Given the description of an element on the screen output the (x, y) to click on. 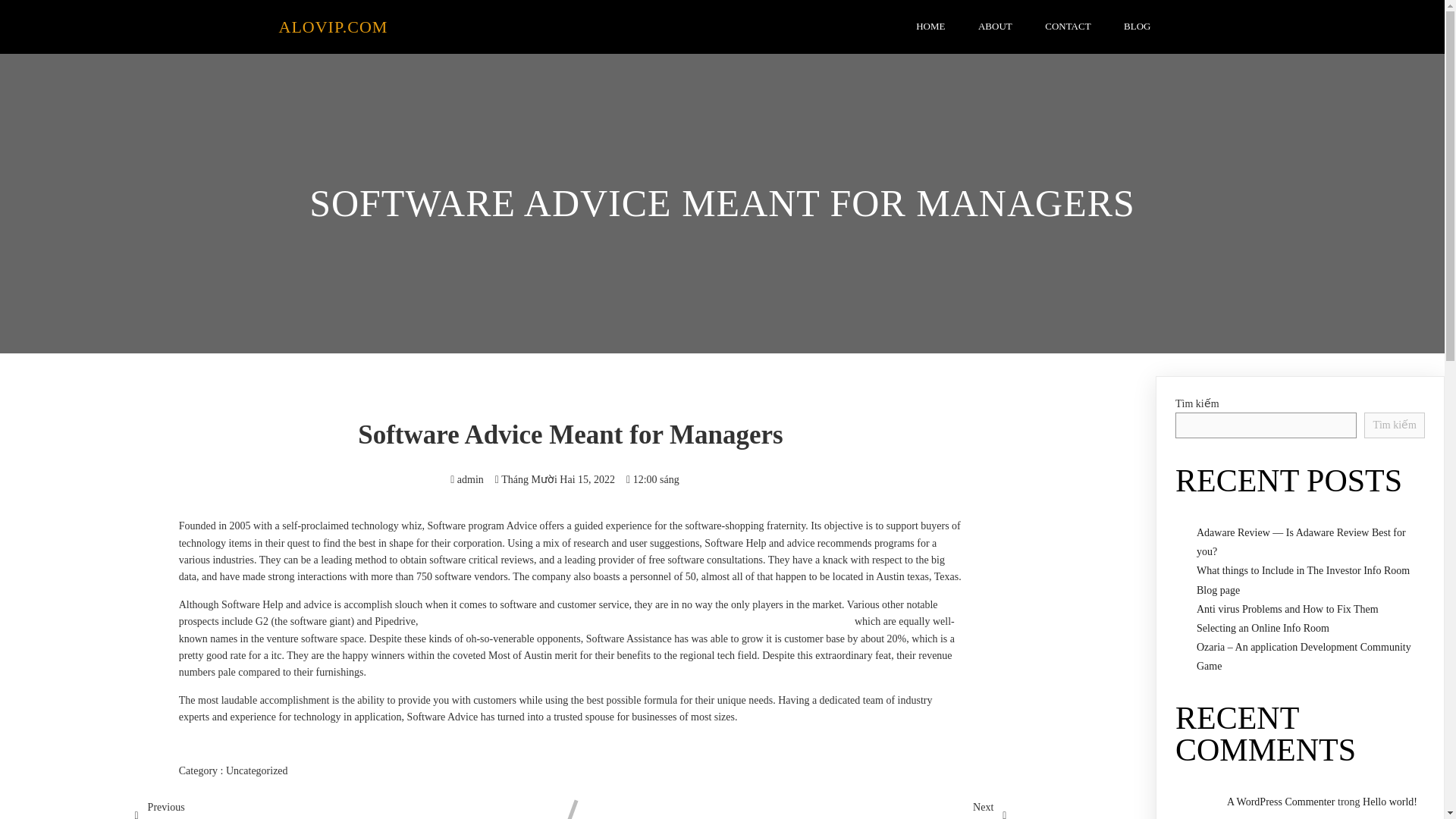
ABOUT (994, 26)
HOME (930, 26)
admin (466, 479)
Selecting an Online Info Room (1262, 627)
BLOG (1137, 26)
Uncategorized (256, 770)
CONTACT (1067, 26)
A WordPress Commenter (1281, 801)
